Given the description of an element on the screen output the (x, y) to click on. 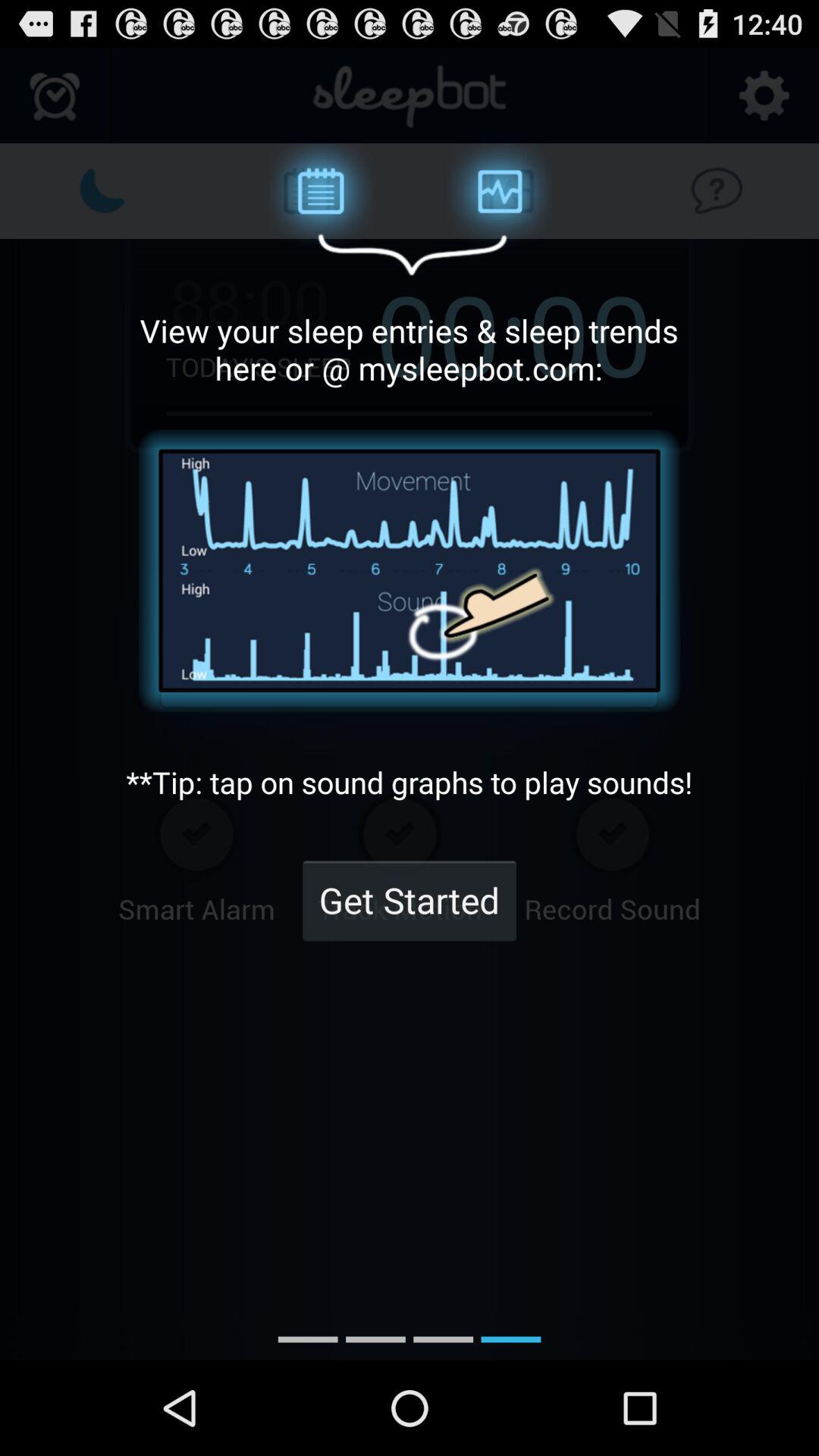
select the blue color logo of notepad on the left (306, 189)
